Given the description of an element on the screen output the (x, y) to click on. 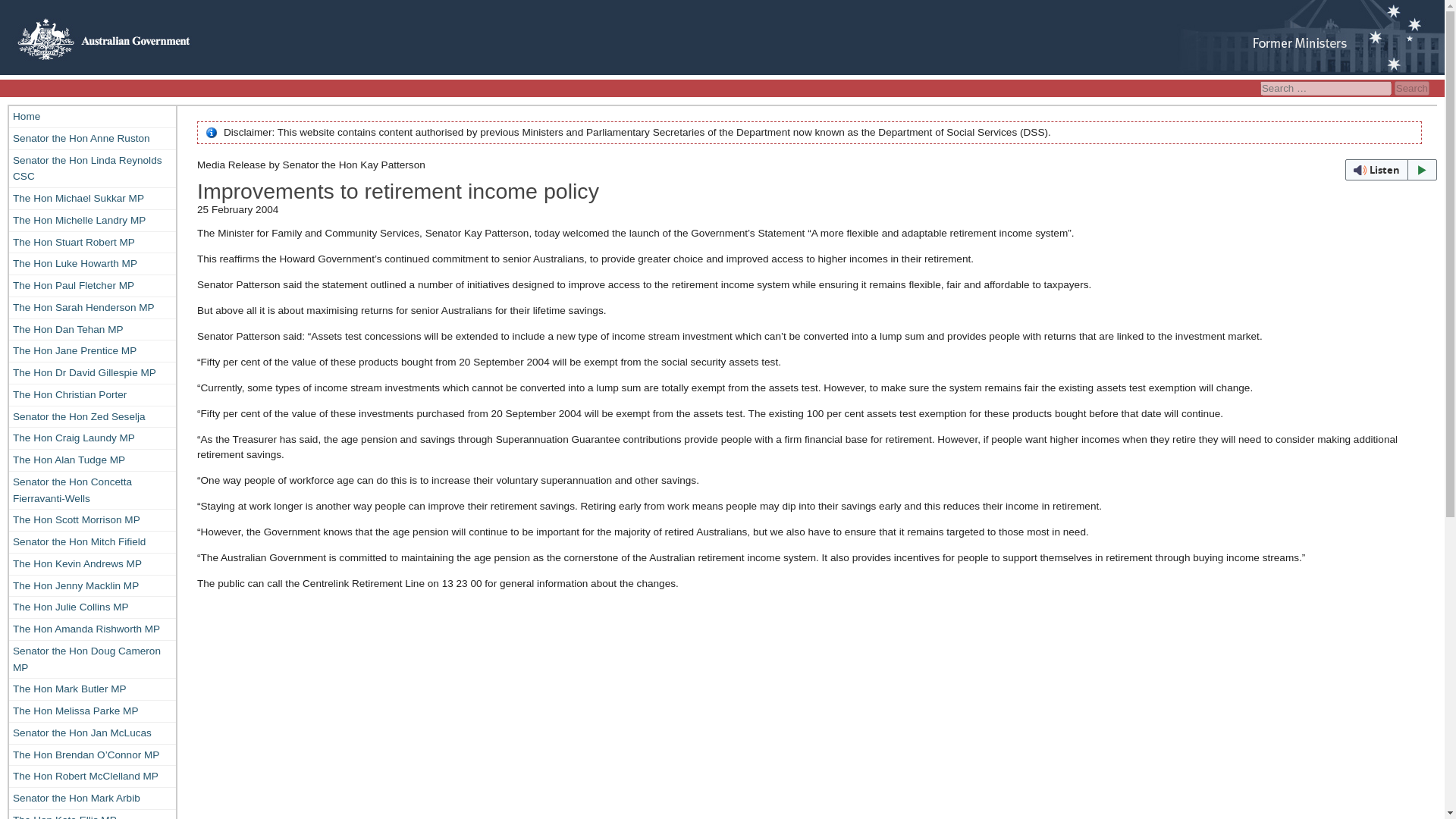
Search (1411, 88)
The Hon Luke Howarth MP (92, 263)
The Hon Dan Tehan MP (92, 328)
Senator the Hon Linda Reynolds CSC (92, 168)
The Hon Michael Sukkar MP (92, 198)
The Hon Jane Prentice MP (92, 350)
The Hon Michelle Landry MP (92, 219)
Home (92, 116)
The Hon Stuart Robert MP (92, 242)
Senator the Hon Anne Ruston (92, 138)
Listen (1391, 169)
The Hon Sarah Henderson MP (92, 307)
Search (1411, 88)
Search (1411, 88)
The Hon Paul Fletcher MP (92, 285)
